Given the description of an element on the screen output the (x, y) to click on. 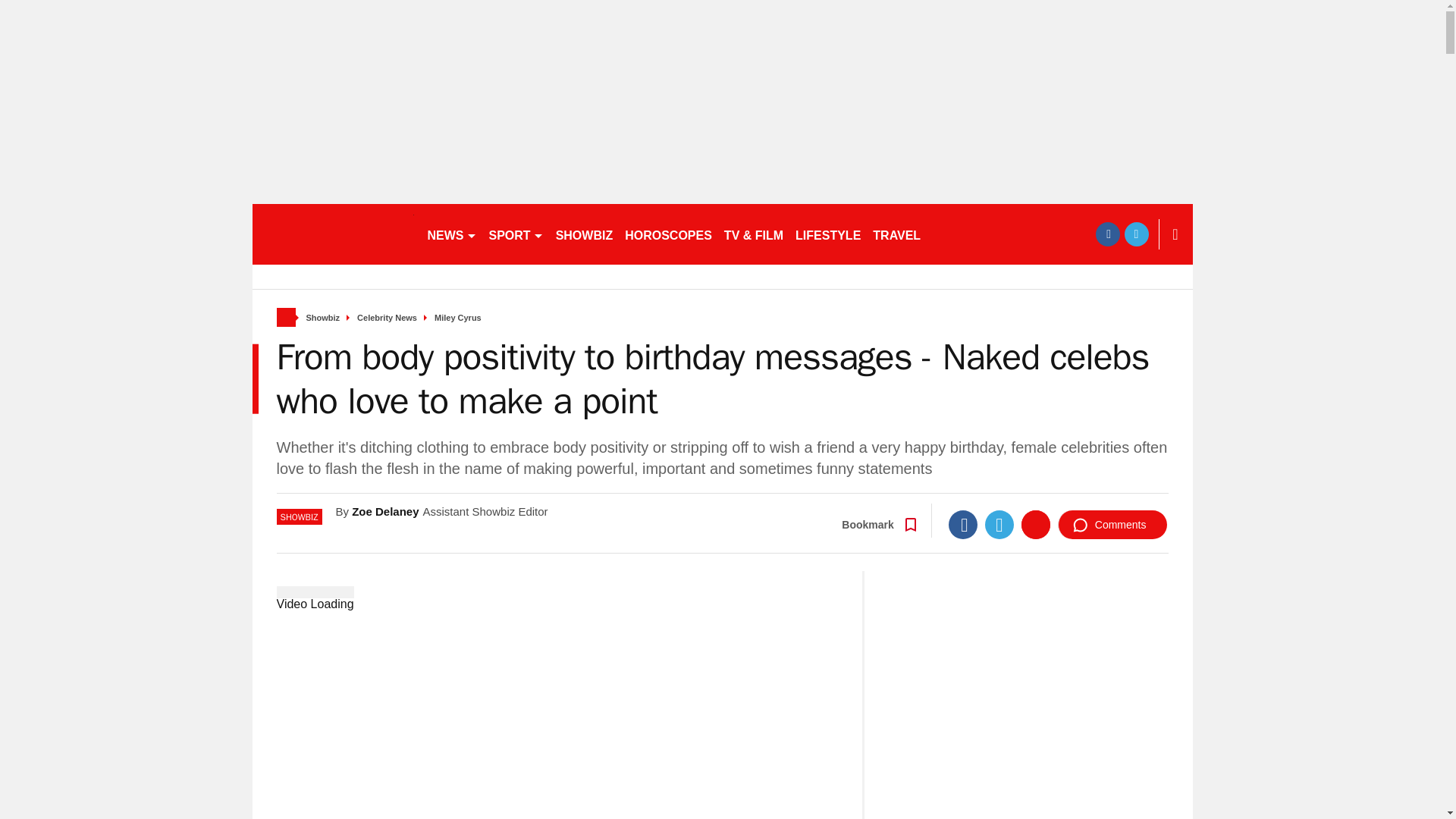
Twitter (999, 524)
twitter (1136, 233)
Facebook (962, 524)
LIFESTYLE (827, 233)
Comments (1112, 524)
SPORT (514, 233)
facebook (1106, 233)
TRAVEL (896, 233)
HOROSCOPES (667, 233)
irishmirror (332, 233)
